Given the description of an element on the screen output the (x, y) to click on. 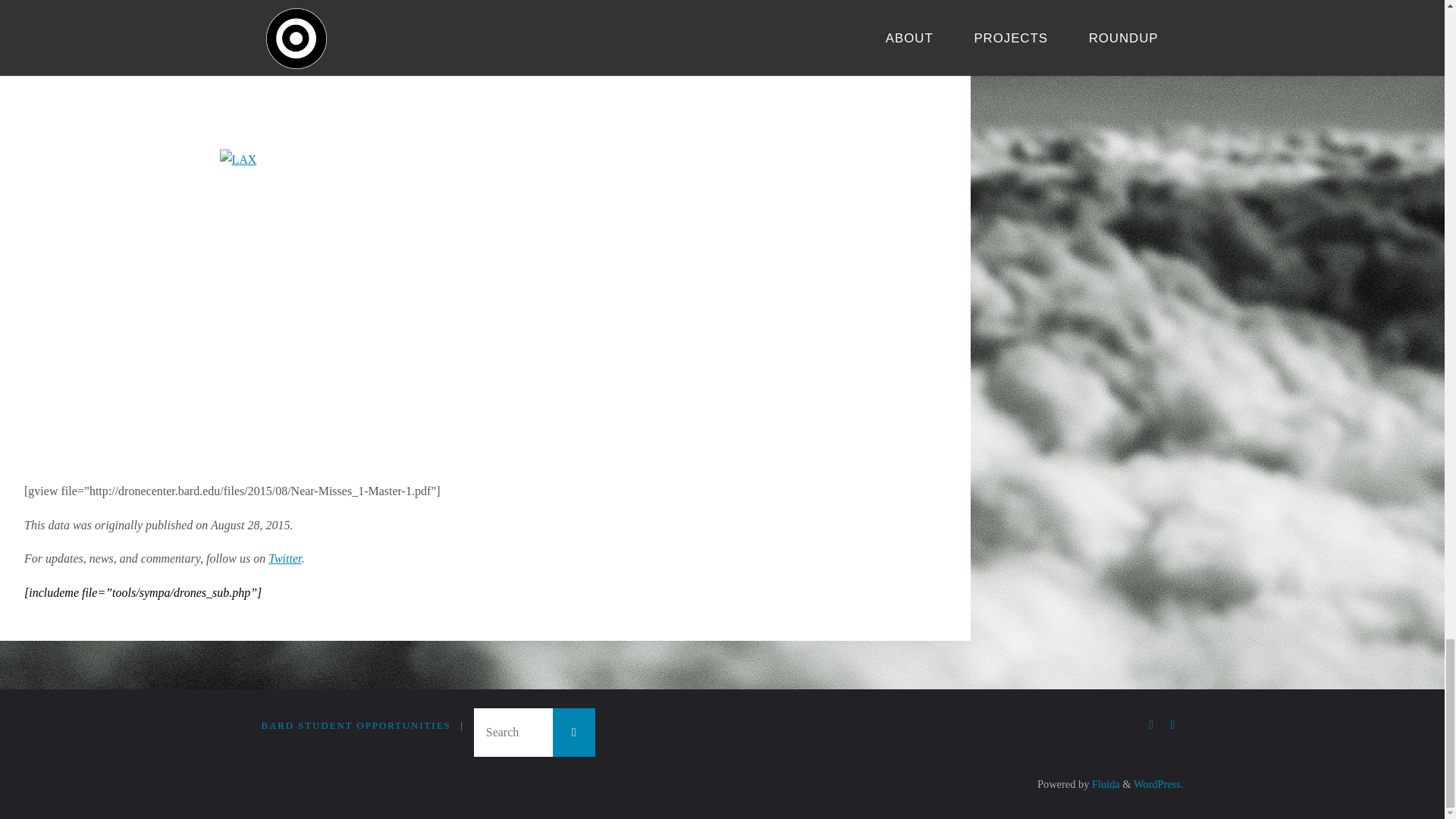
Twitter (1171, 725)
WordPress. (1158, 784)
Twitter (284, 558)
Facebook (1150, 725)
Semantic Personal Publishing Platform (1158, 784)
BARD STUDENT OPPORTUNITIES (354, 725)
Fluida WordPress Theme by Cryout Creations (1104, 784)
Fluida (1104, 784)
